Given the description of an element on the screen output the (x, y) to click on. 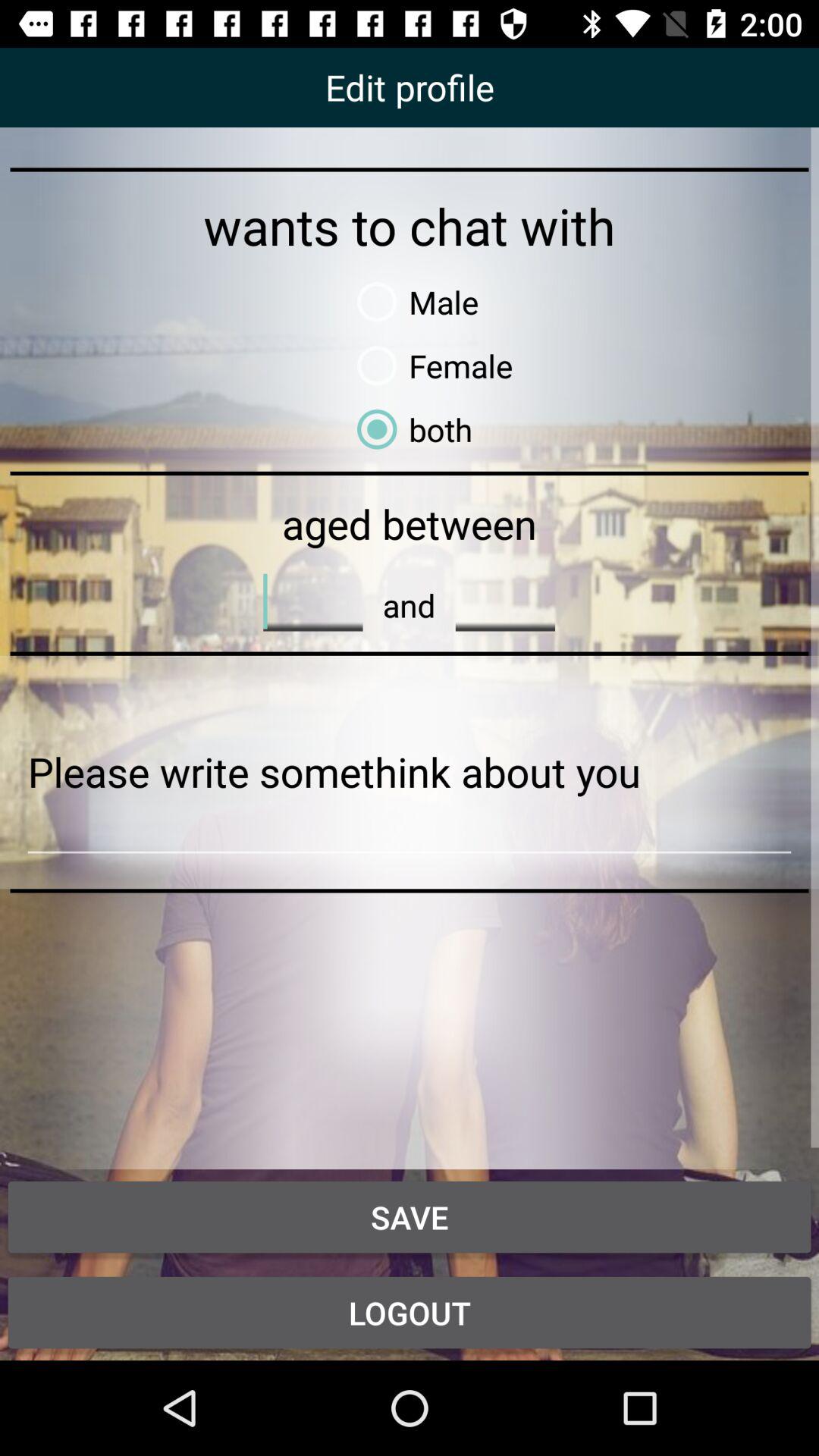
fill in the blank (505, 601)
